Given the description of an element on the screen output the (x, y) to click on. 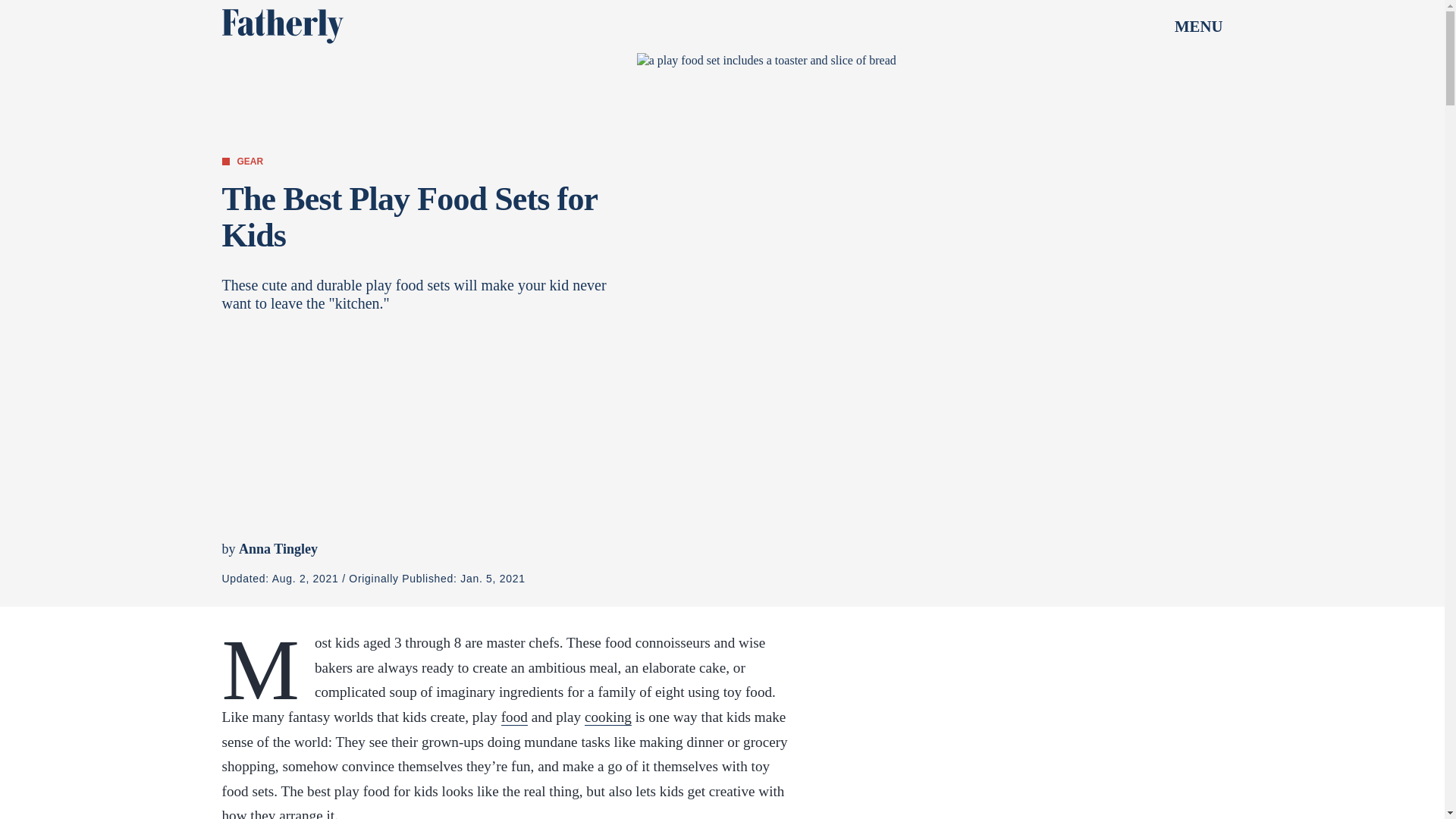
Anna Tingley (277, 548)
Fatherly (281, 26)
cooking (608, 717)
food (513, 717)
